Given the description of an element on the screen output the (x, y) to click on. 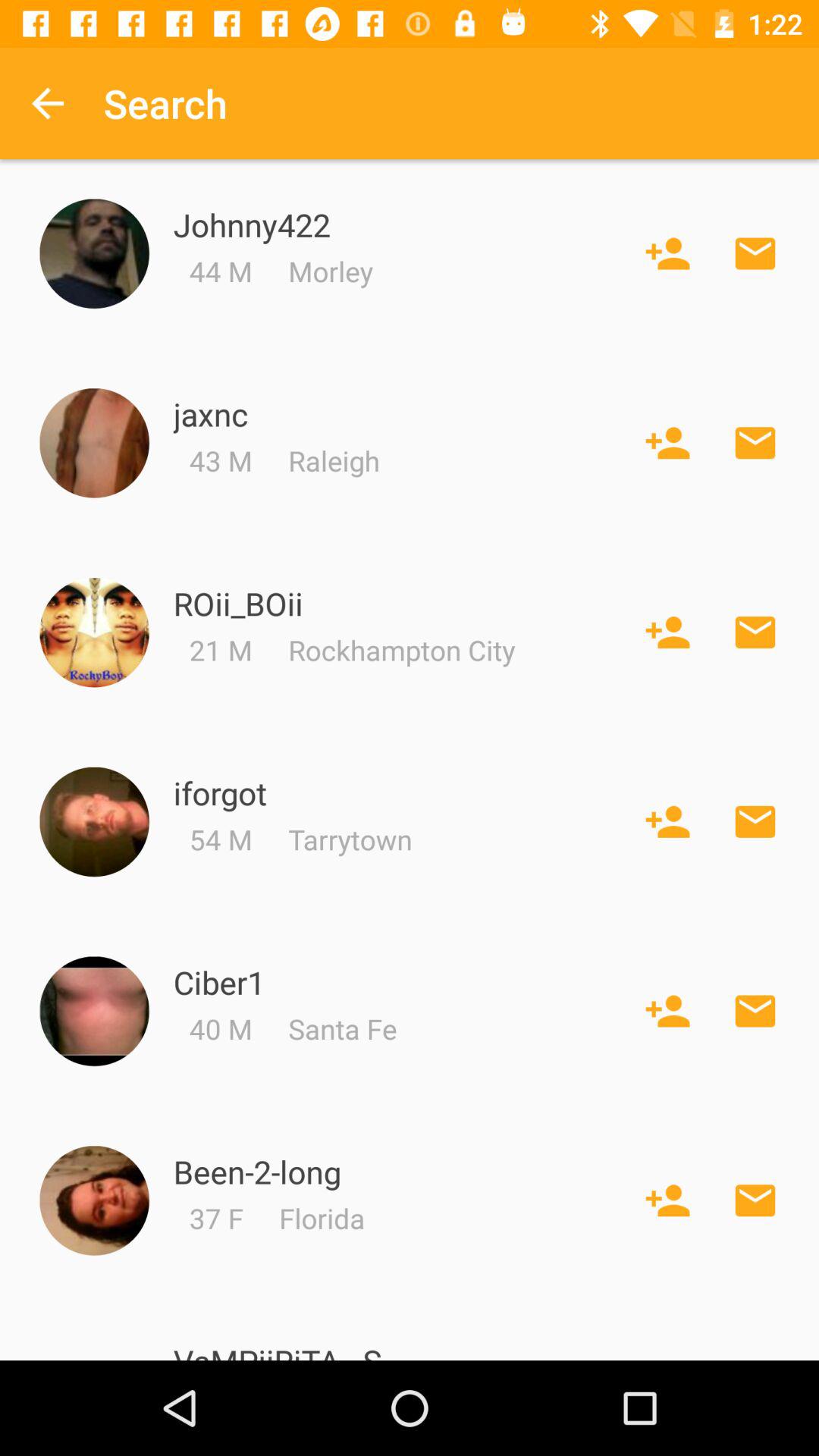
open contact (94, 1011)
